Given the description of an element on the screen output the (x, y) to click on. 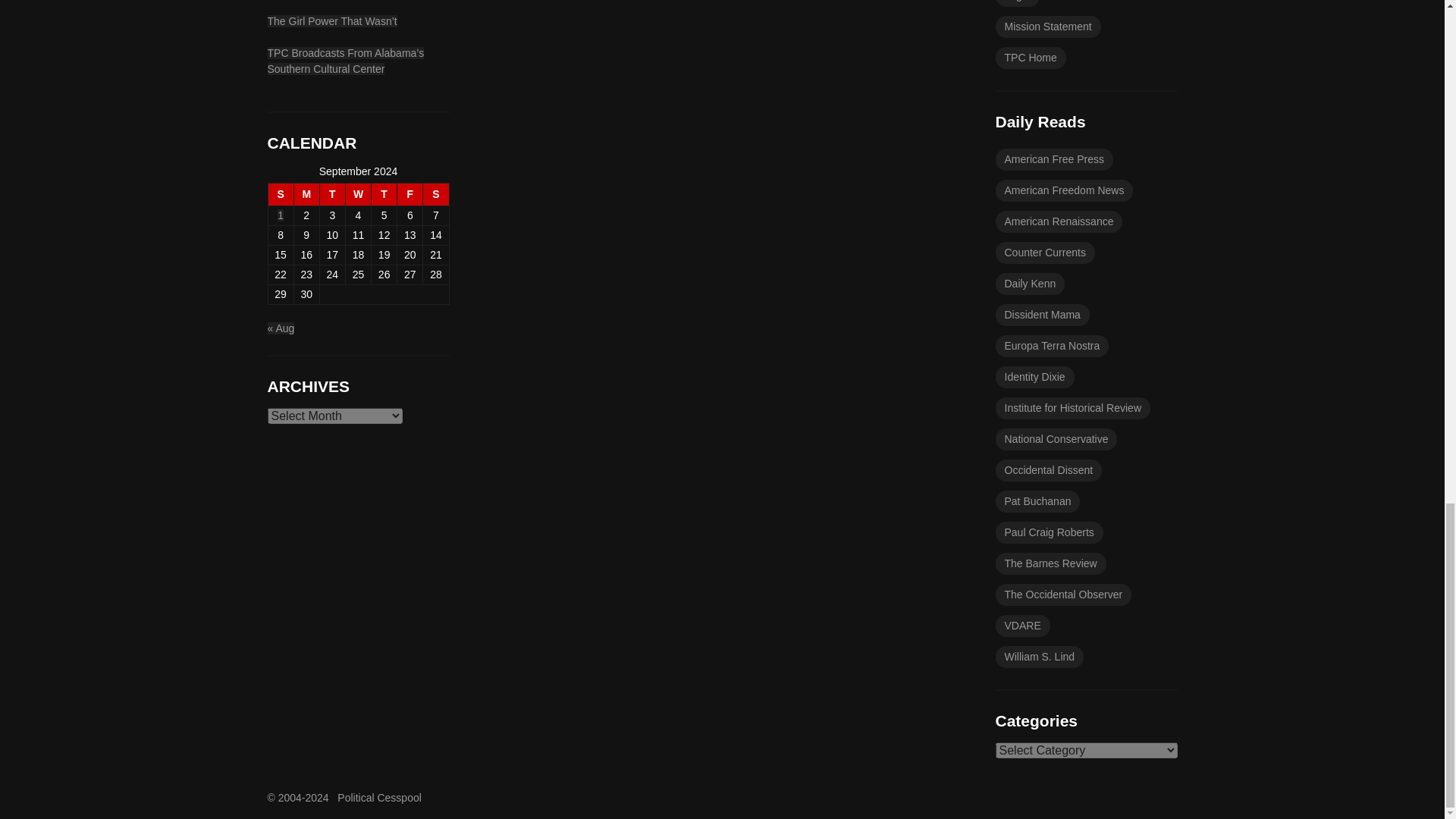
Saturday (435, 193)
Tuesday (331, 193)
Sunday (280, 193)
Wednesday (358, 193)
Friday (410, 193)
American Renaissance (1058, 221)
Monday (306, 193)
Thursday (384, 193)
